Given the description of an element on the screen output the (x, y) to click on. 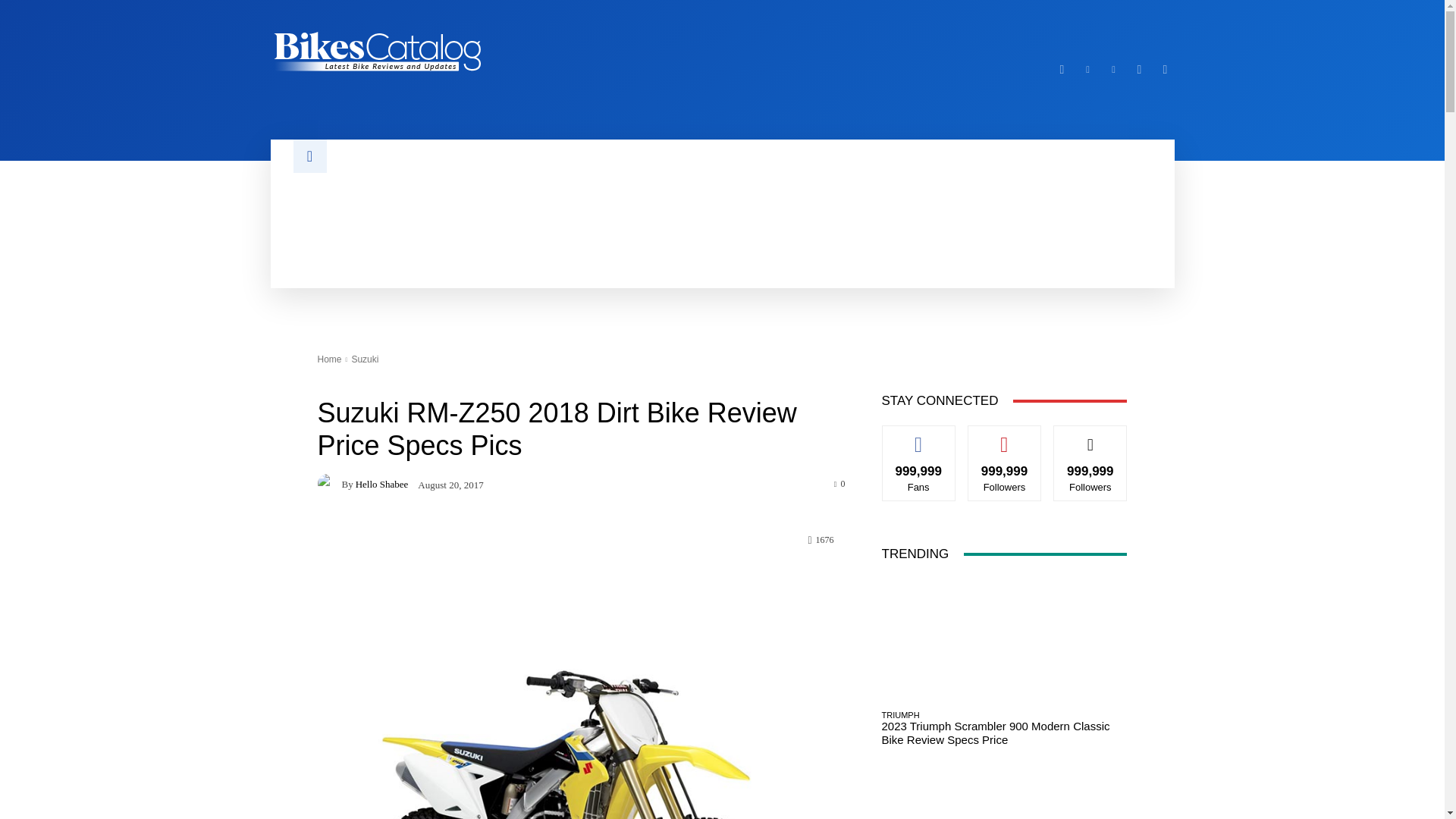
View all posts in Suzuki (364, 358)
Linkedin (1087, 69)
Facebook (1061, 69)
Pinterest (1112, 69)
Hello Shabee (328, 483)
Youtube (1164, 69)
Twitter (1138, 69)
